Given the description of an element on the screen output the (x, y) to click on. 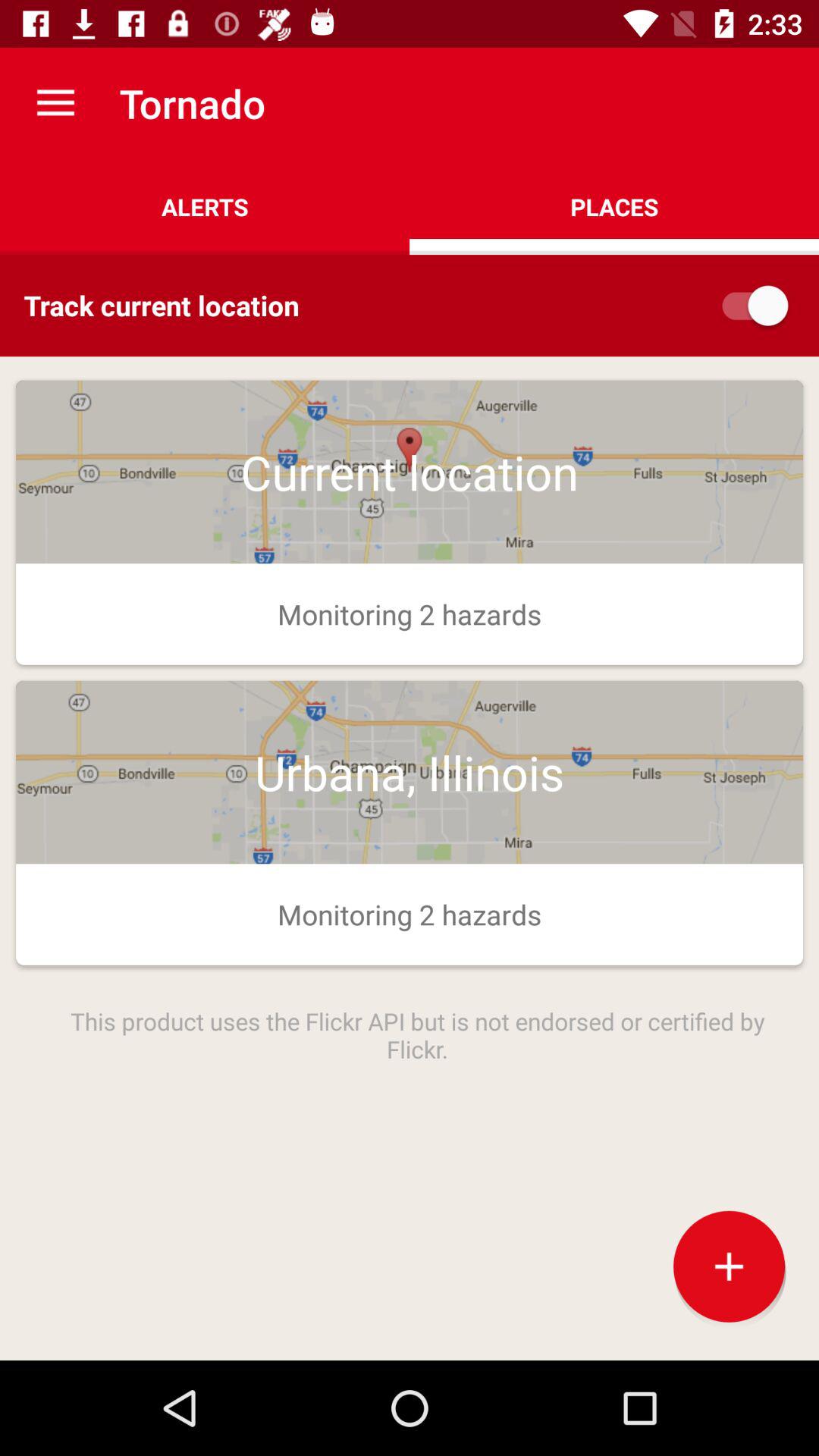
swipe until places (614, 206)
